Given the description of an element on the screen output the (x, y) to click on. 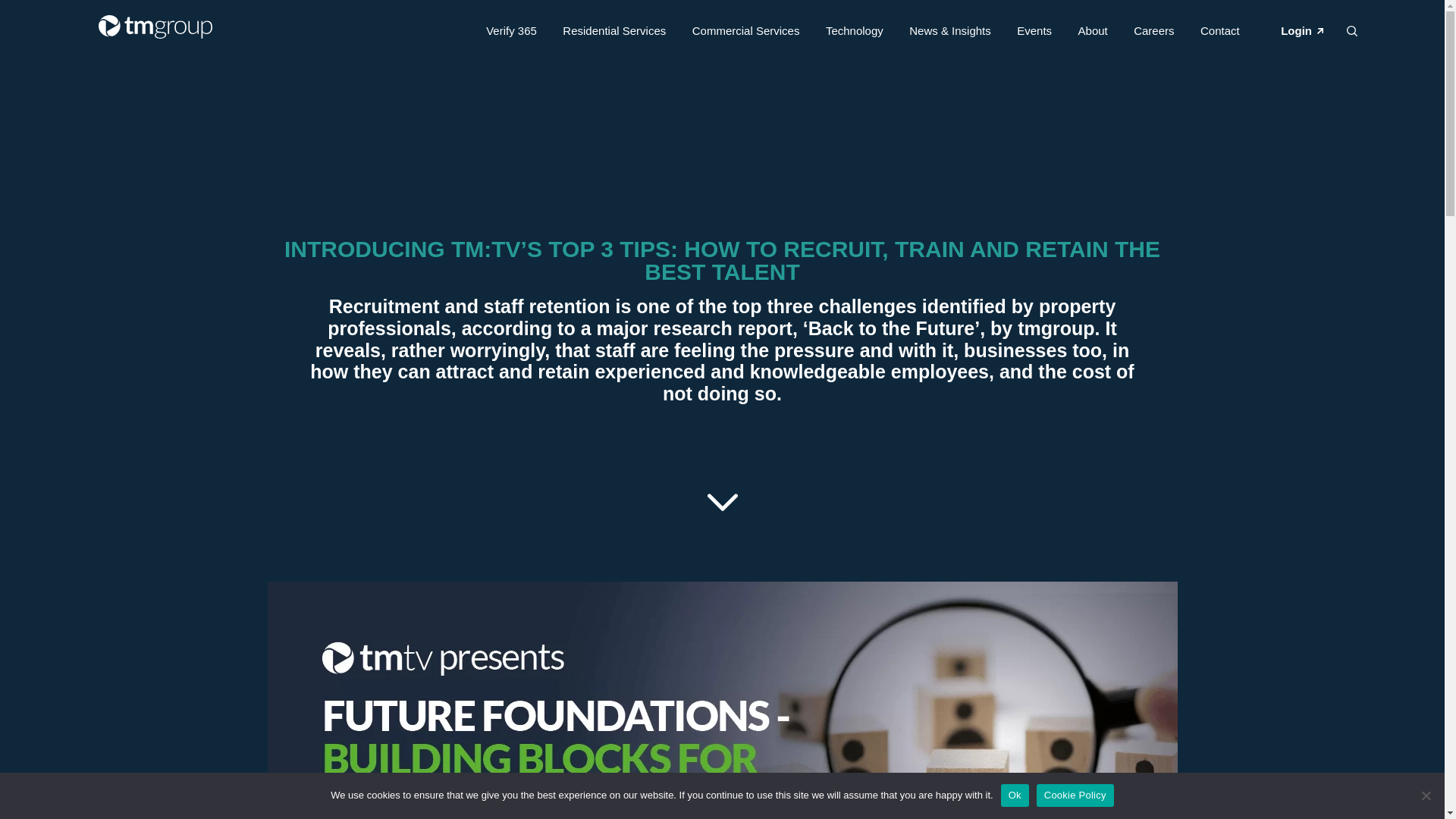
Search (277, 34)
Technology (854, 33)
No (1425, 795)
Events (1033, 33)
Residential Services (613, 33)
About (1093, 33)
Commercial Services (746, 33)
Login (1296, 33)
Careers (1153, 33)
Verify 365 (511, 33)
Contact (1219, 33)
